Given the description of an element on the screen output the (x, y) to click on. 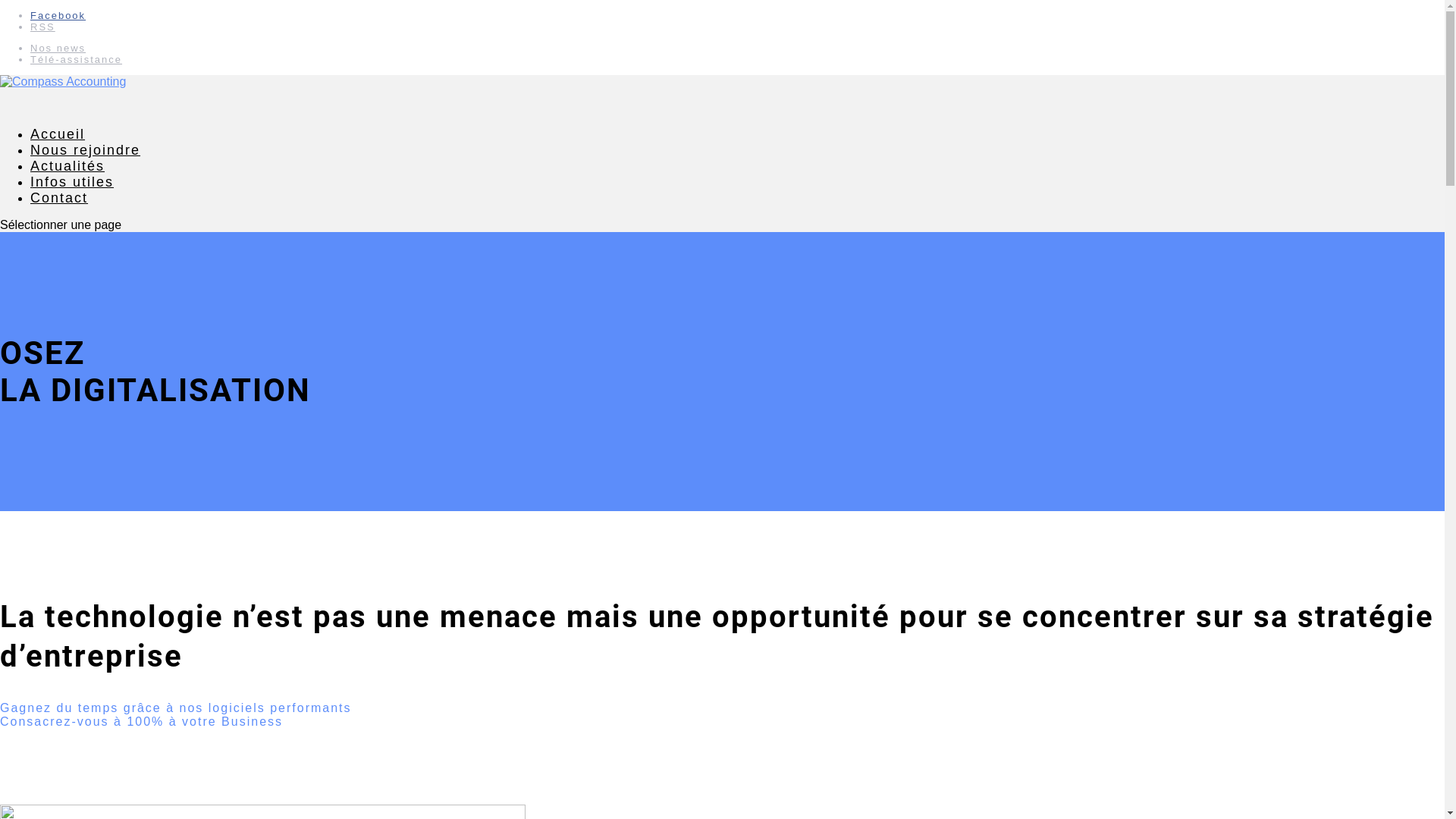
RSS Element type: text (42, 26)
Infos utiles Element type: text (71, 194)
Nous rejoindre Element type: text (85, 162)
Facebook Element type: text (57, 15)
Contact Element type: text (58, 210)
Nos news Element type: text (57, 47)
Accueil Element type: text (57, 146)
